Given the description of an element on the screen output the (x, y) to click on. 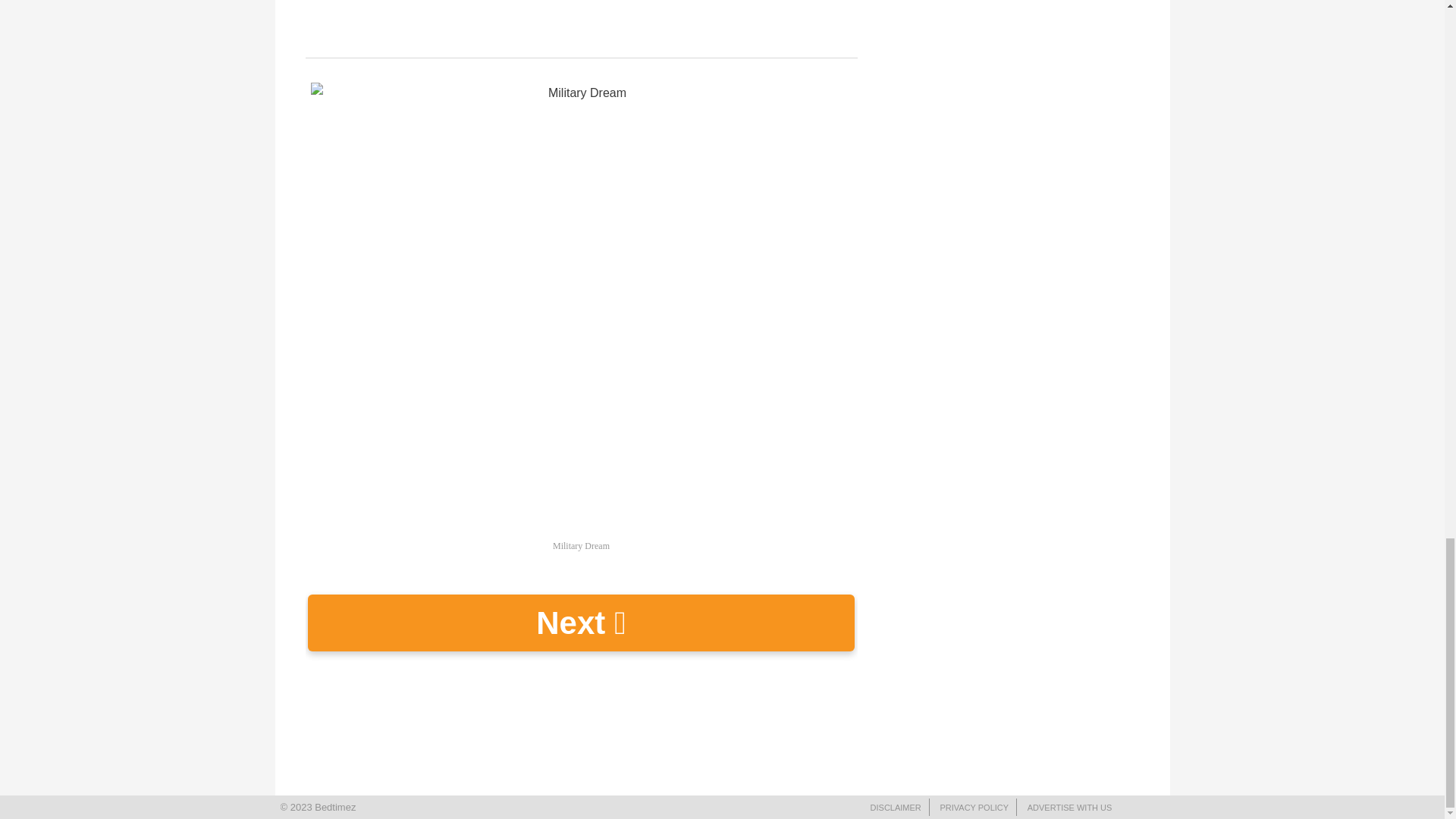
PRIVACY POLICY (974, 807)
Next (580, 622)
ADVERTISE WITH US (1069, 807)
DISCLAIMER (895, 807)
